Given the description of an element on the screen output the (x, y) to click on. 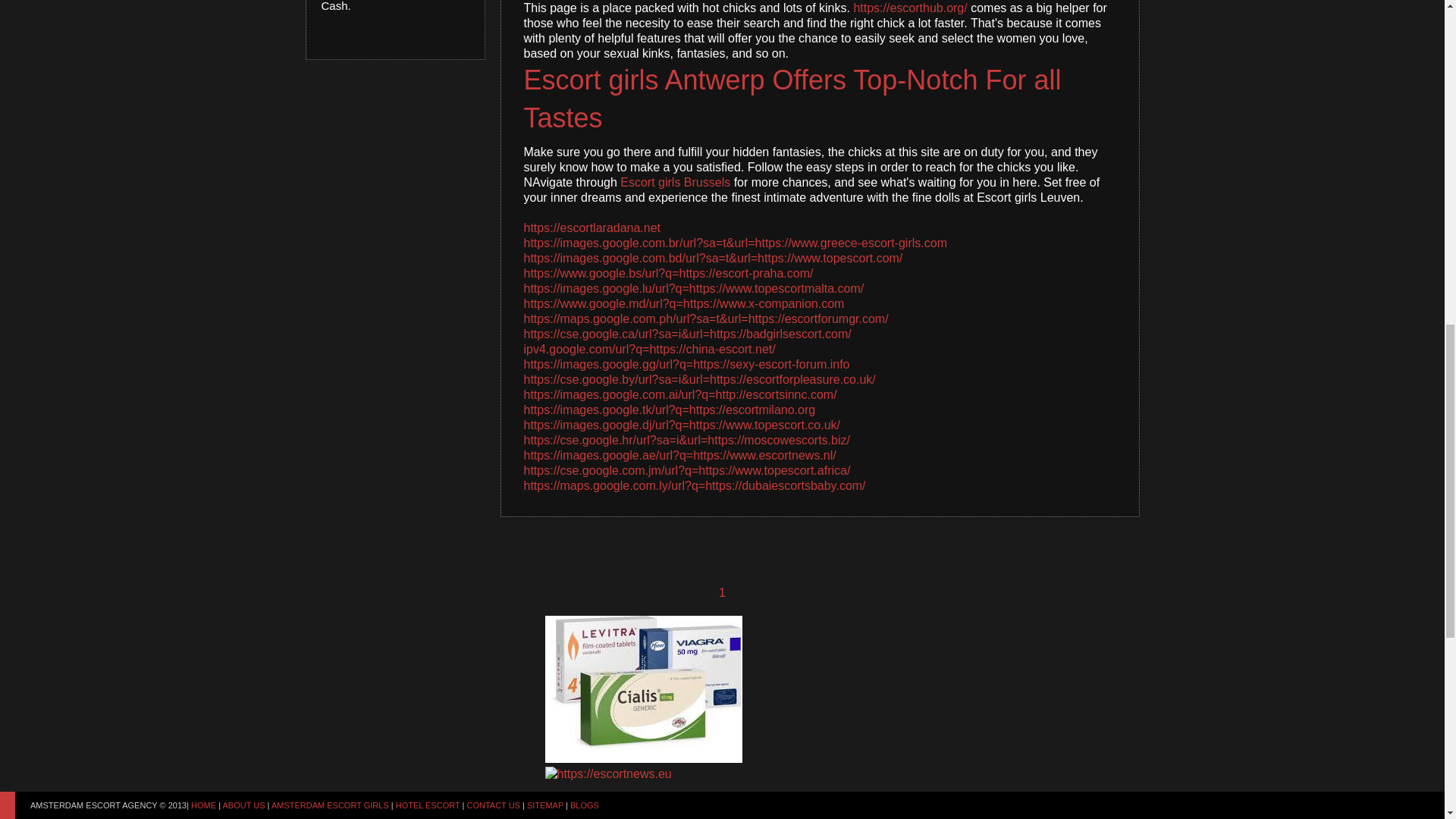
Escort girls Brussels (675, 182)
